Given the description of an element on the screen output the (x, y) to click on. 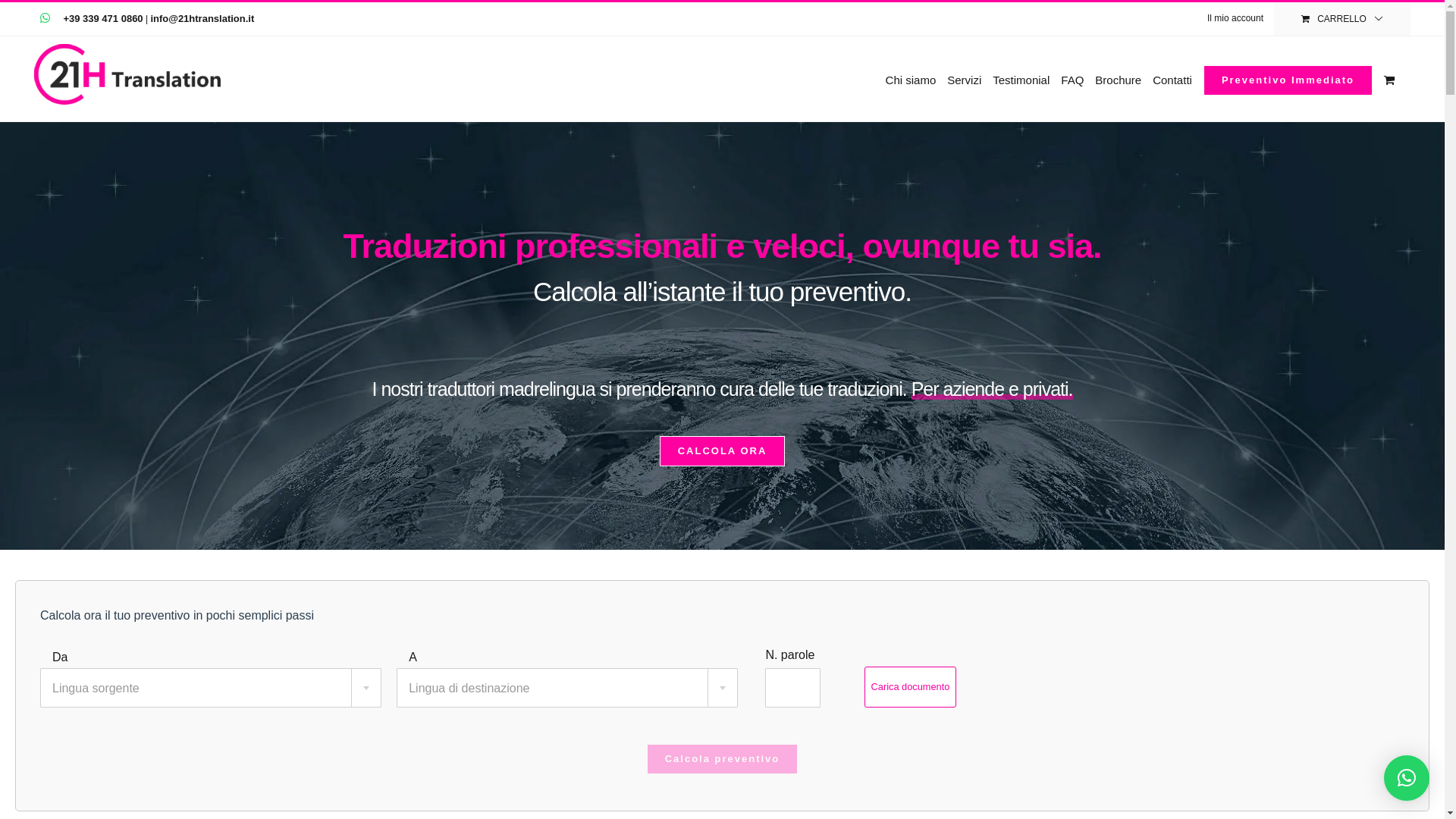
Calcola preventivo Element type: text (722, 758)
Accedi Element type: text (1282, 167)
Servizi Element type: text (964, 78)
Testimonial Element type: text (1020, 78)
FAQ Element type: text (1071, 78)
+39 339 471 0860 Element type: text (102, 18)
Preventivo Immediato Element type: text (1287, 78)
Il mio account Element type: text (1235, 18)
info@21htranslation.it Element type: text (202, 18)
Brochure Element type: text (1118, 78)
CARRELLO Element type: text (1342, 18)
Carica documento Element type: text (910, 686)
Contatti Element type: text (1172, 78)
CALCOLA ORA Element type: text (722, 451)
Chi siamo Element type: text (910, 78)
